Given the description of an element on the screen output the (x, y) to click on. 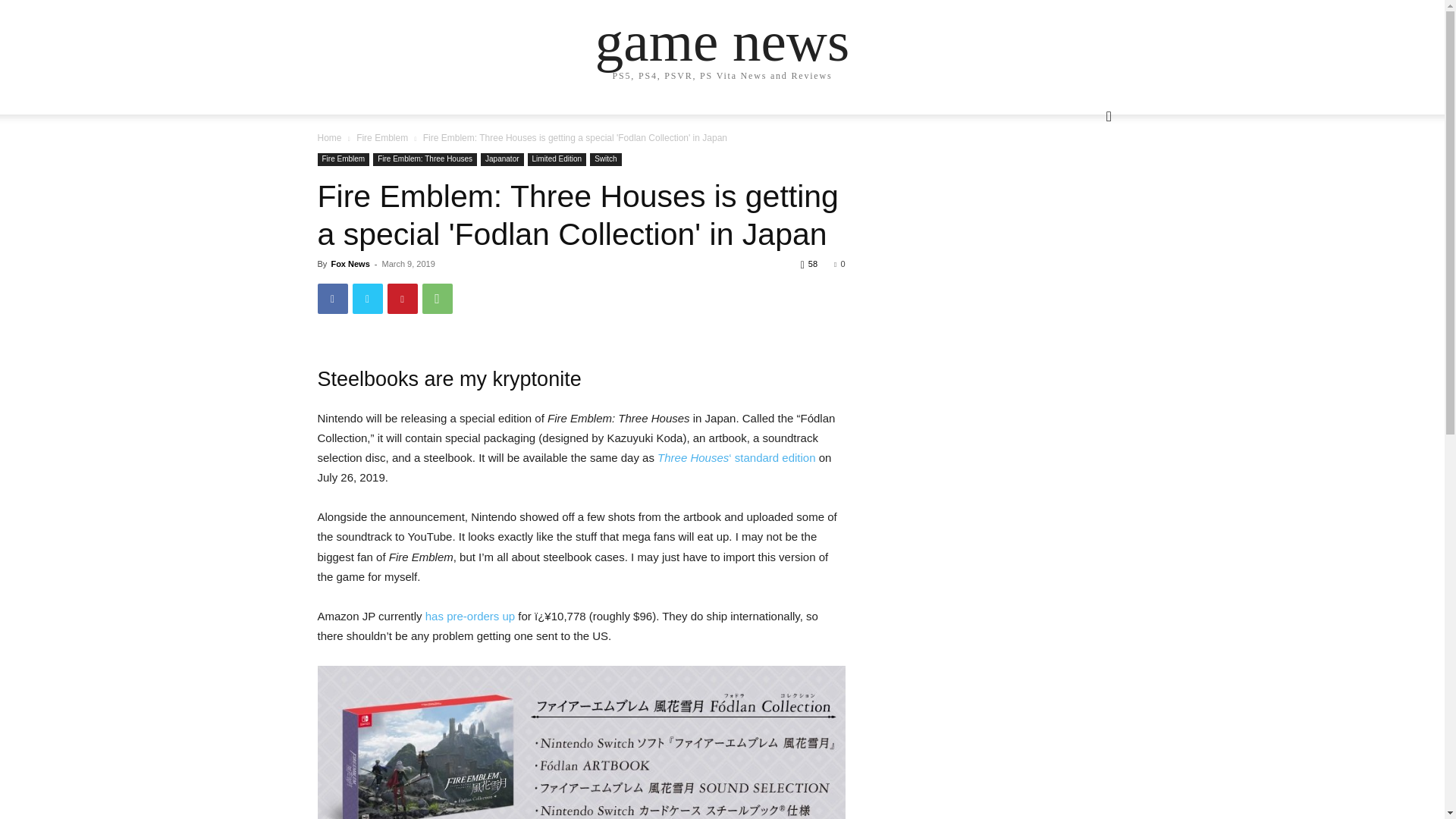
Switch (605, 159)
Twitter (366, 298)
has pre-orders up (470, 615)
Fire Emblem (343, 159)
View all posts in Fire Emblem (381, 137)
Fox News (349, 263)
Japanator (501, 159)
WhatsApp (436, 298)
Limited Edition (556, 159)
Home (328, 137)
game news (721, 41)
Pinterest (401, 298)
Fire Emblem (381, 137)
Fire Emblem: Three Houses (424, 159)
Search (1085, 177)
